Given the description of an element on the screen output the (x, y) to click on. 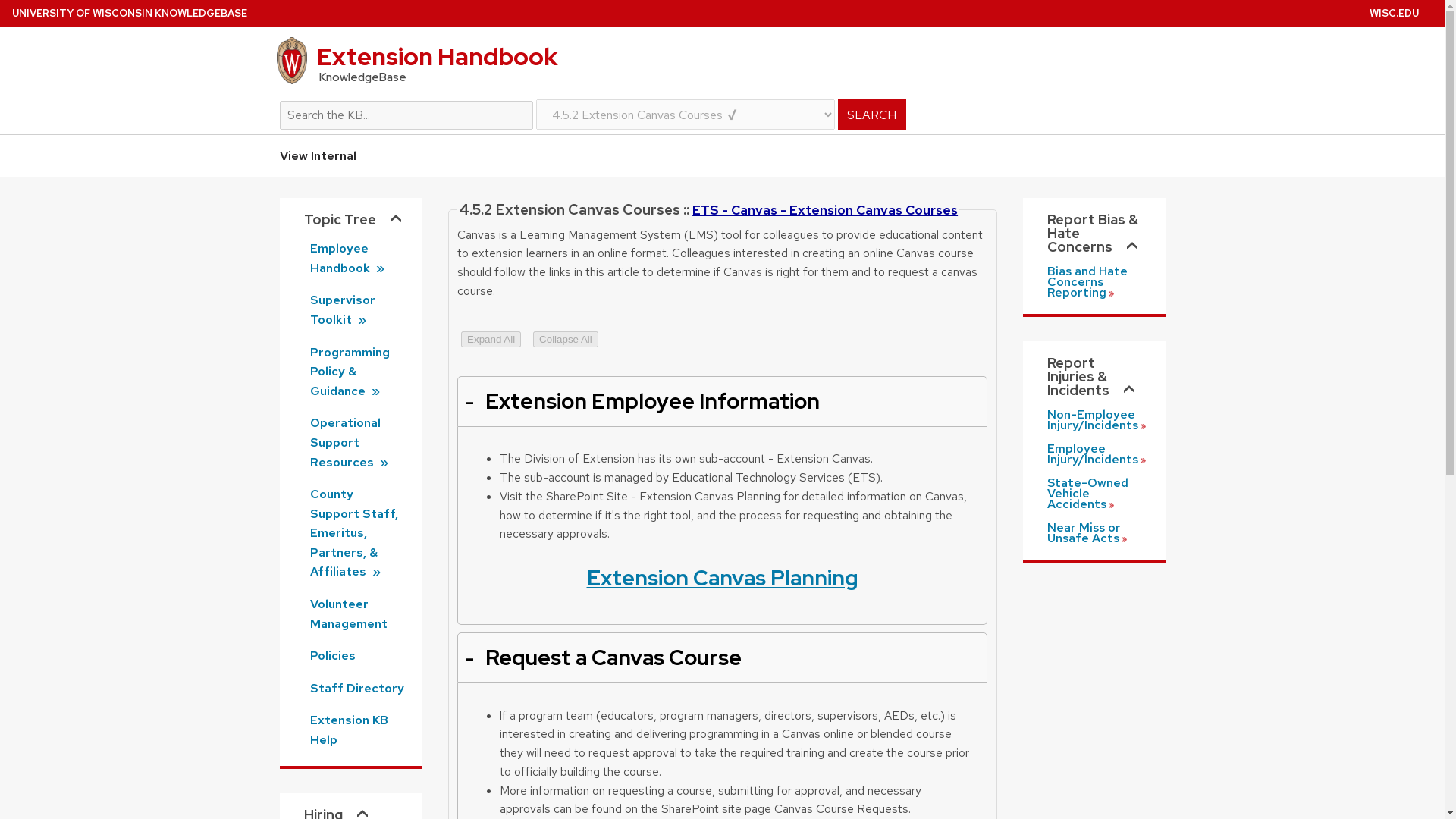
SEARCH (871, 114)
Search (721, 105)
View Internal (317, 155)
Extension Canvas Planning SharePoint Site (722, 577)
SEARCH (871, 114)
SEARCH (871, 114)
WISC.EDU (1394, 12)
UNIVERSITY OF WISCONSIN KNOWLEDGEBASE (129, 12)
Extension Handbook (721, 60)
